Given the description of an element on the screen output the (x, y) to click on. 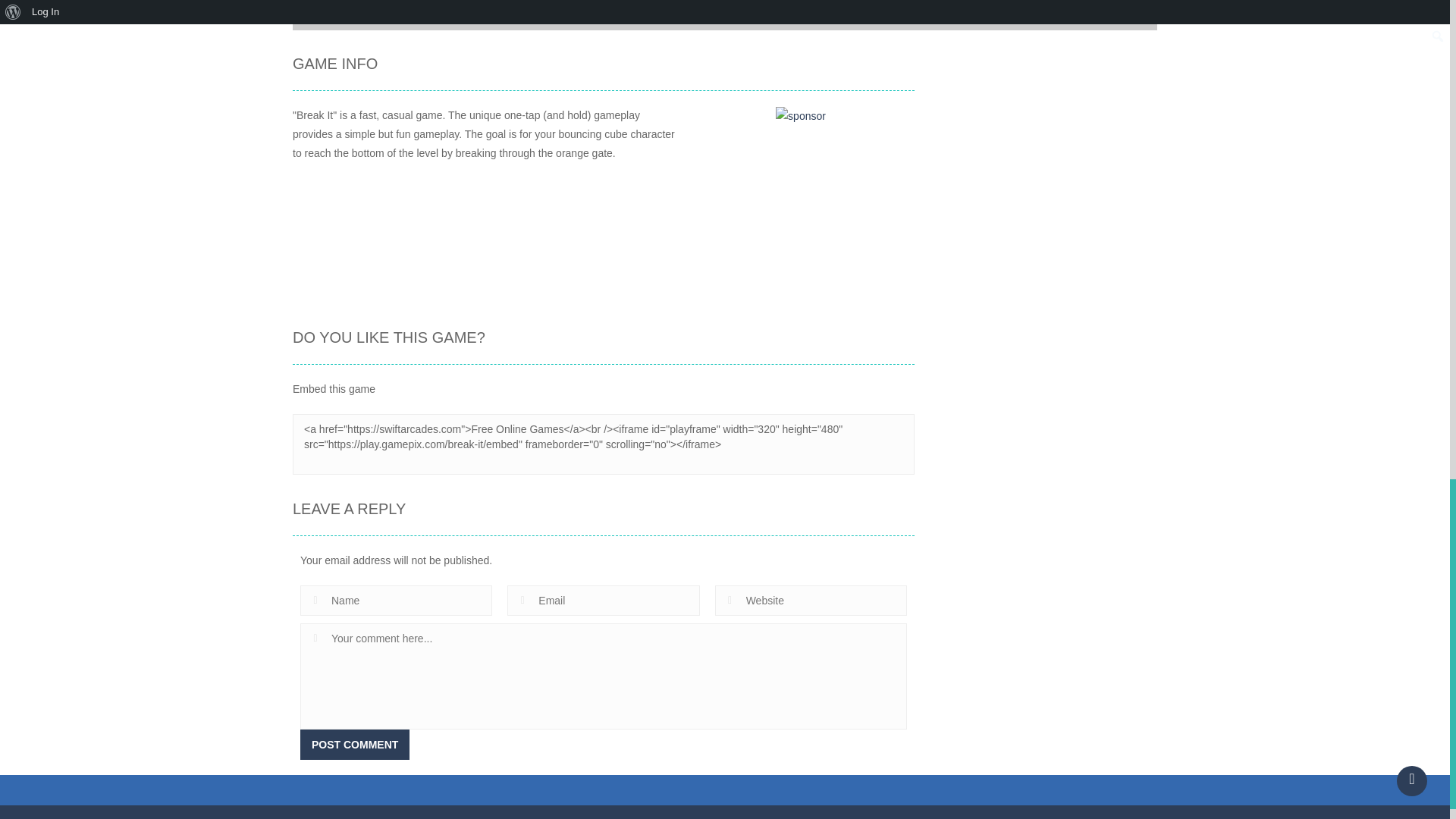
Post Comment (354, 744)
